Given the description of an element on the screen output the (x, y) to click on. 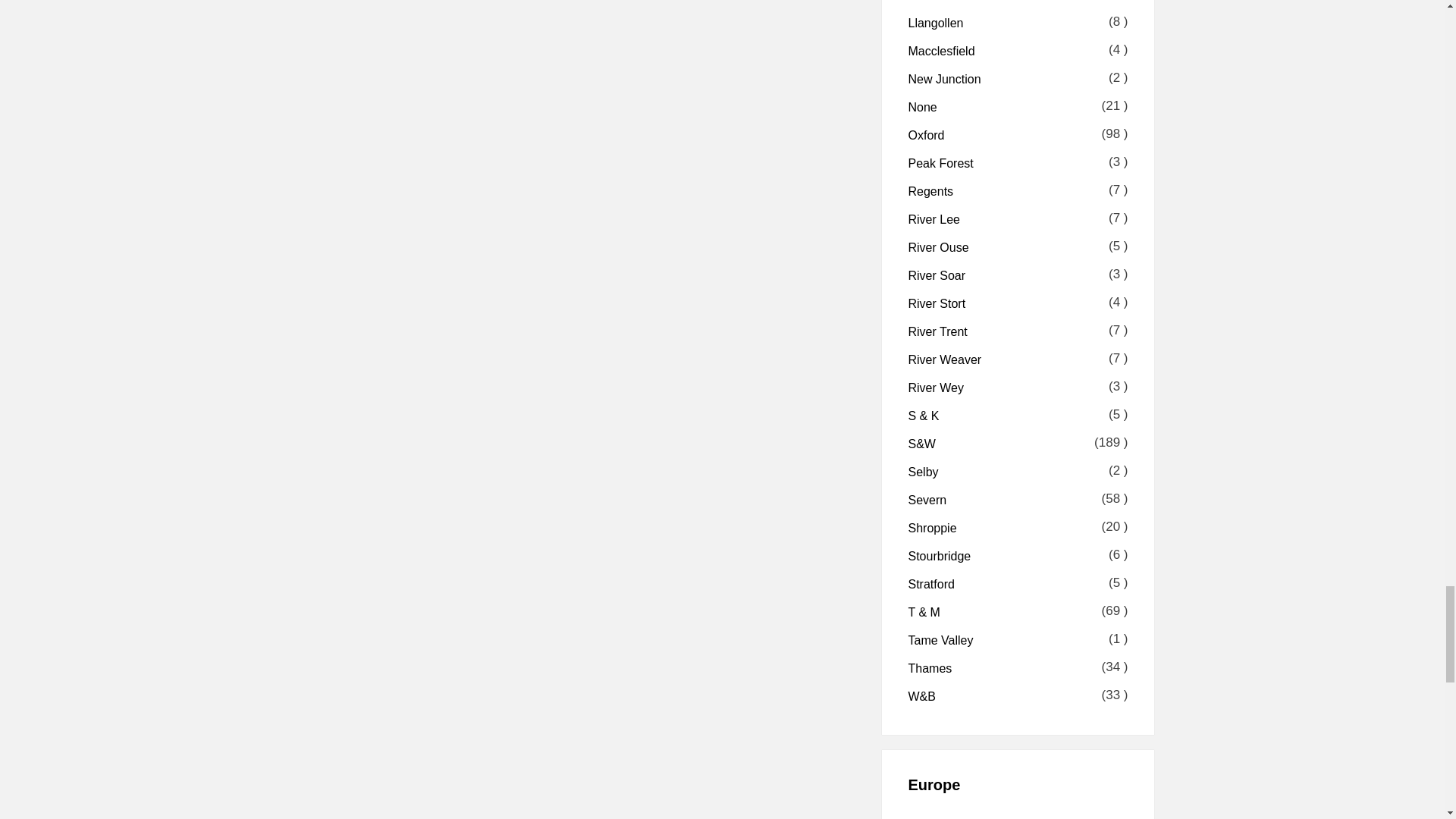
Cruising on the Severn (927, 499)
The Regents Canal (930, 191)
Cruising on the Shropshire Union (932, 527)
Trent and Mersey canal (924, 612)
The Oxford Canal (926, 134)
Stratford upon Avon Canal (931, 584)
The New Junction Canal (944, 78)
Stainforth and Keadby (923, 415)
